Given the description of an element on the screen output the (x, y) to click on. 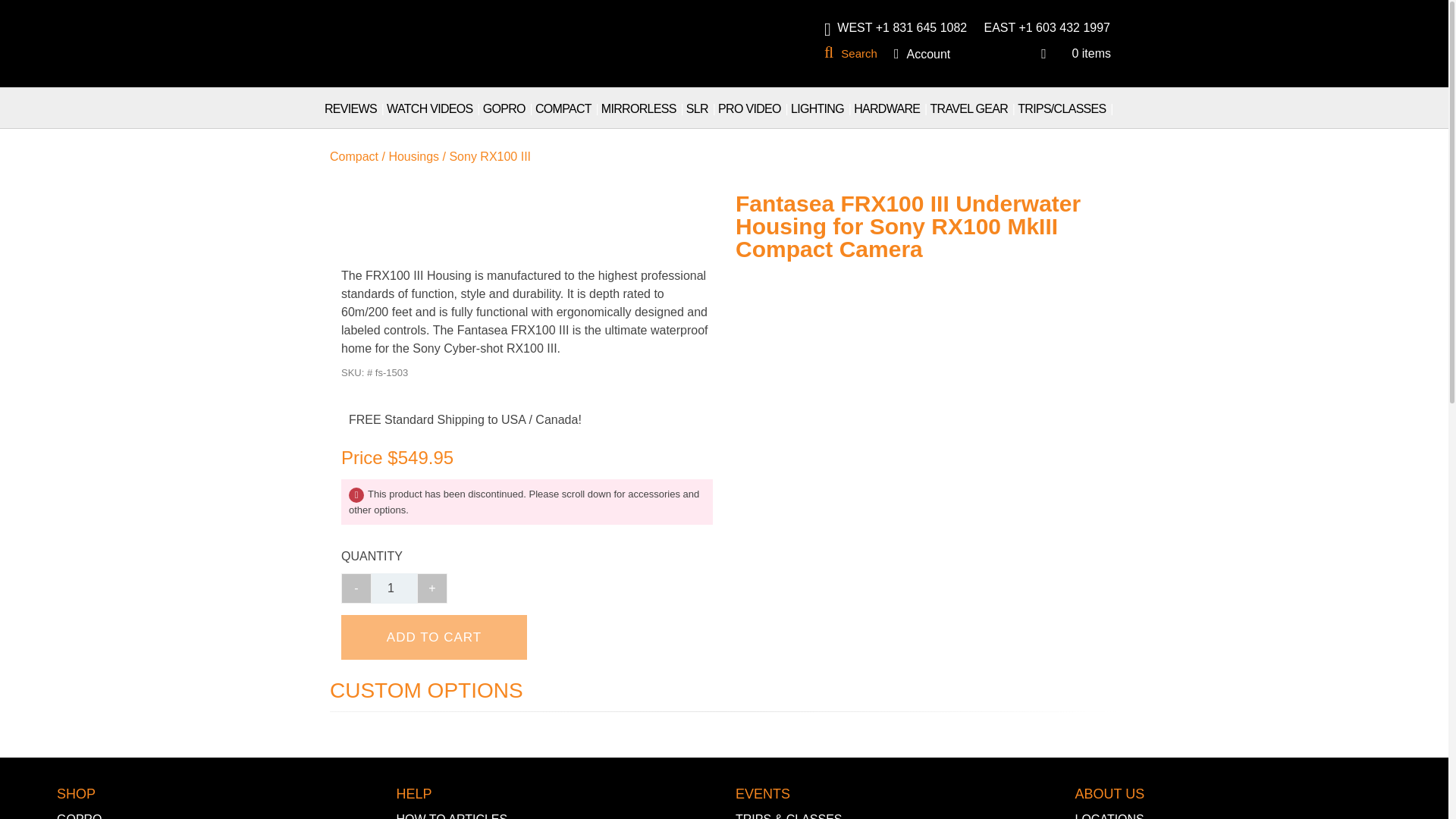
Sony RX100 III (489, 155)
- (355, 588)
Account (928, 54)
Housings (413, 155)
1 (393, 588)
Cart (1074, 53)
Search (854, 52)
Search (854, 52)
Compact (354, 155)
0 items (1074, 53)
